Given the description of an element on the screen output the (x, y) to click on. 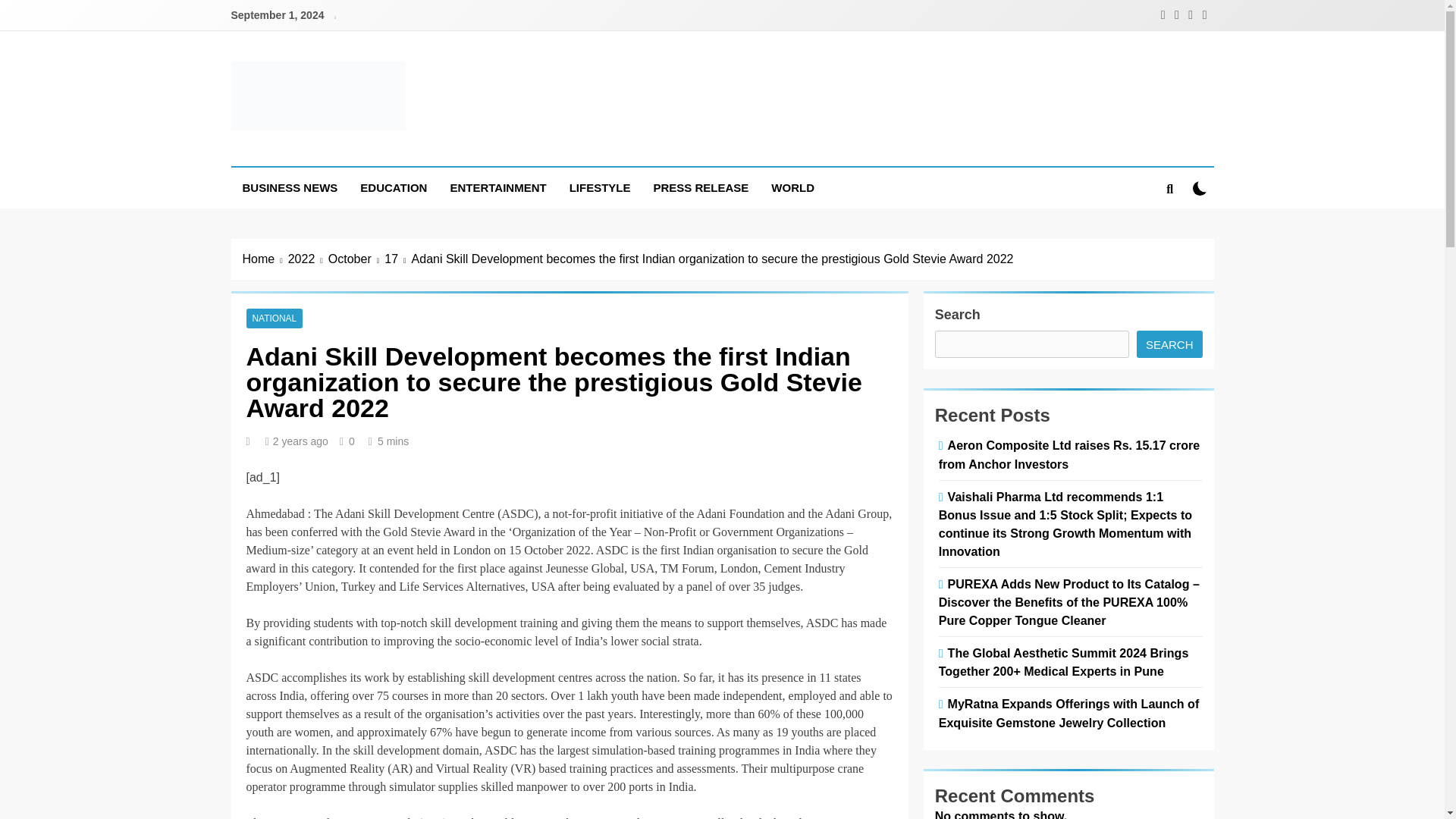
BUSINESS NEWS (289, 187)
October (356, 259)
ENTERTAINMENT (497, 187)
2 years ago (301, 440)
on (1199, 187)
WORLD (792, 187)
Home (265, 259)
2022 (308, 259)
LIFESTYLE (599, 187)
PRESS RELEASE (701, 187)
